Given the description of an element on the screen output the (x, y) to click on. 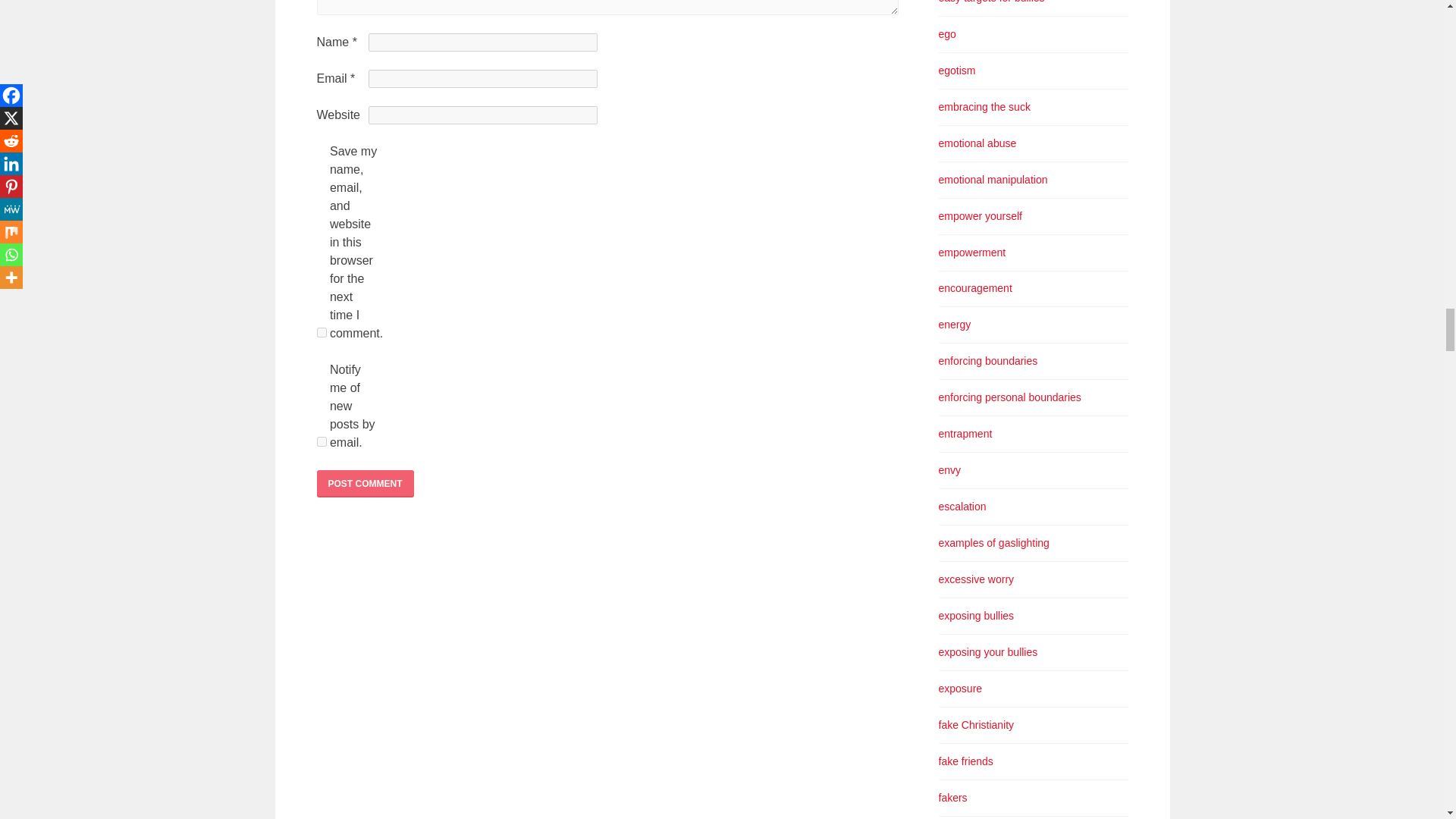
subscribe (321, 441)
Post Comment (365, 483)
yes (321, 332)
